Given the description of an element on the screen output the (x, y) to click on. 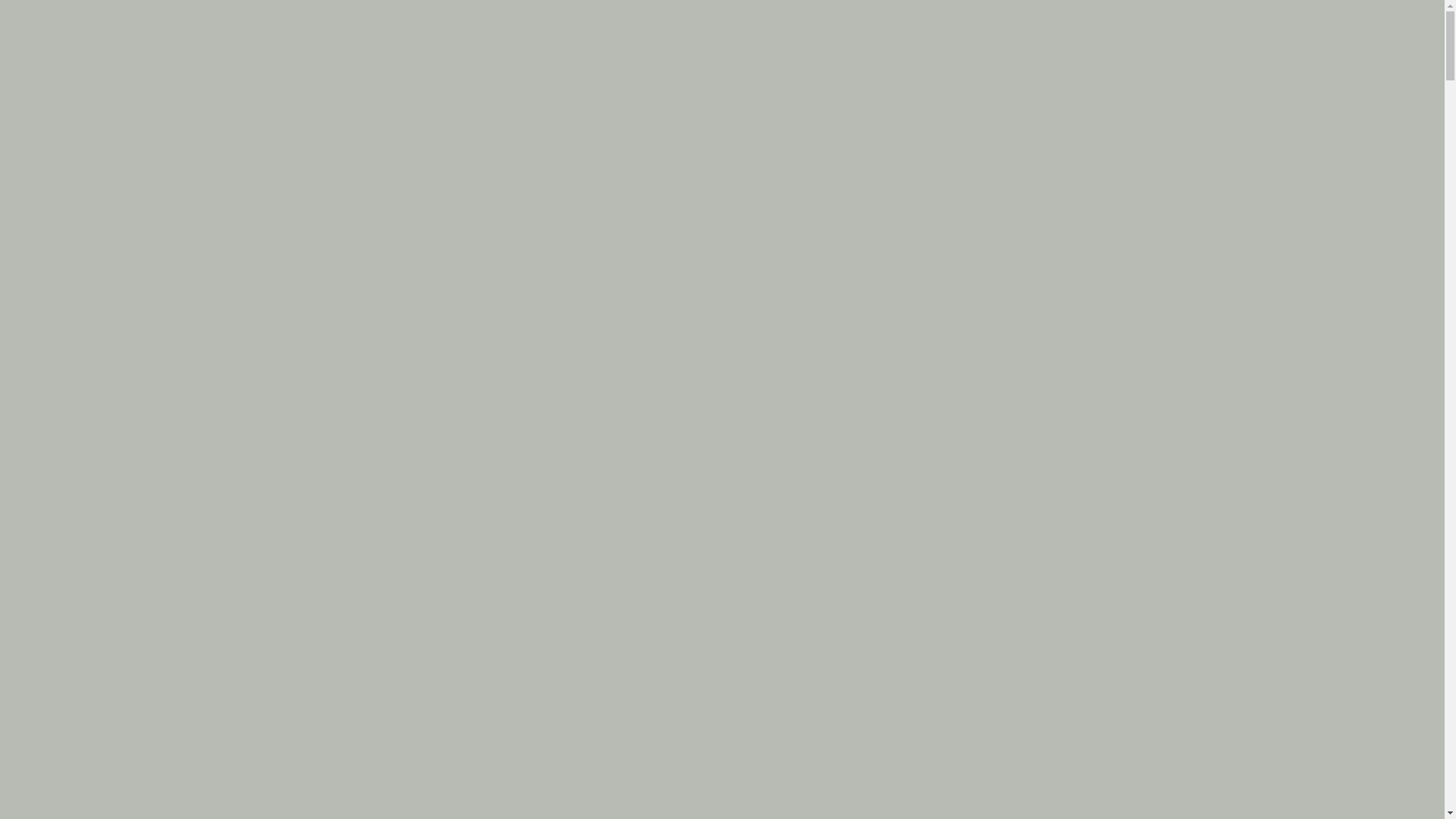
ENQUIRE NOW Element type: text (1348, 33)
